Given the description of an element on the screen output the (x, y) to click on. 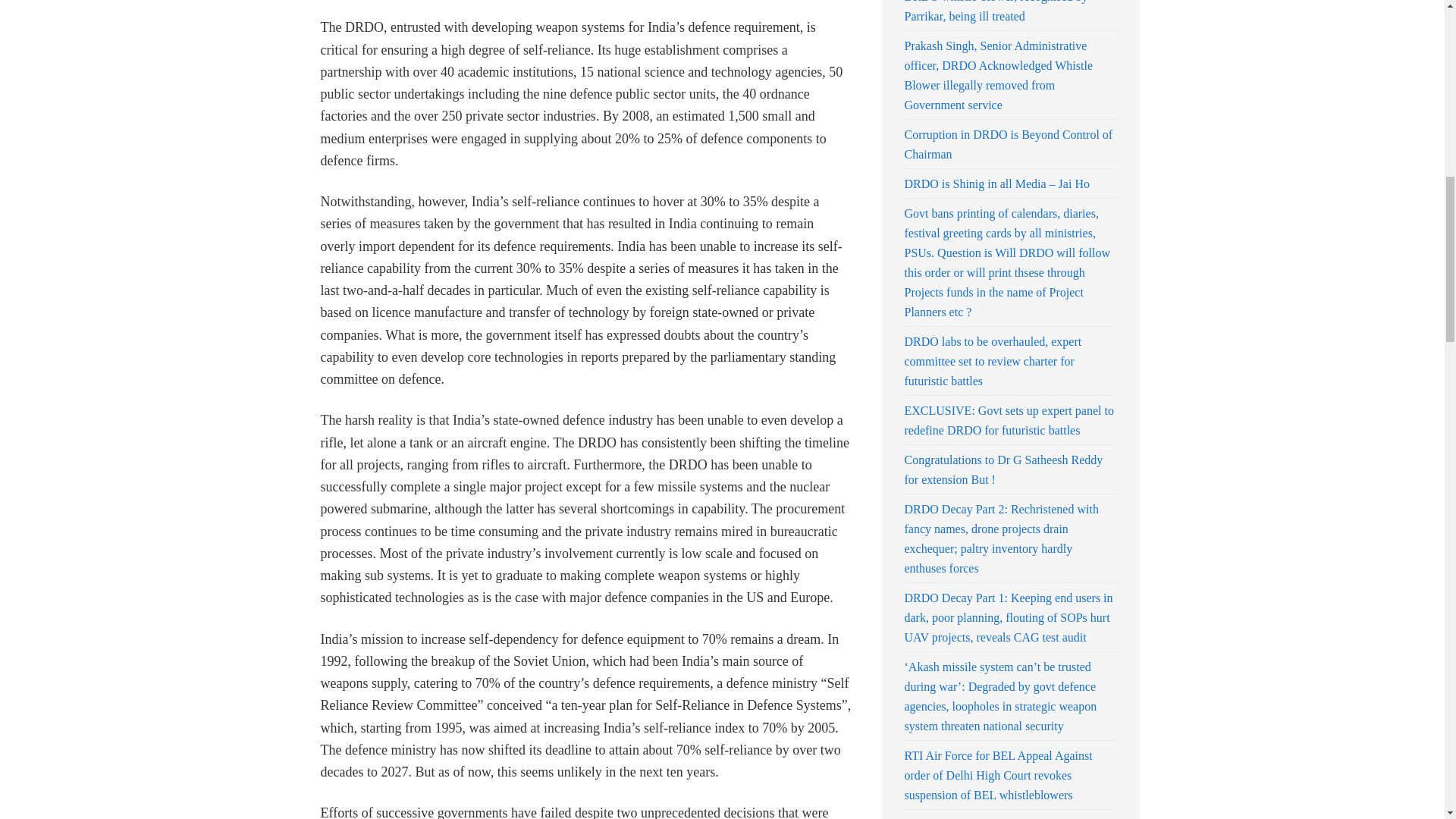
Corruption in DRDO is Beyond Control of Chairman (1008, 143)
Congratulations to Dr G Satheesh Reddy for extension But ! (1003, 469)
